Given the description of an element on the screen output the (x, y) to click on. 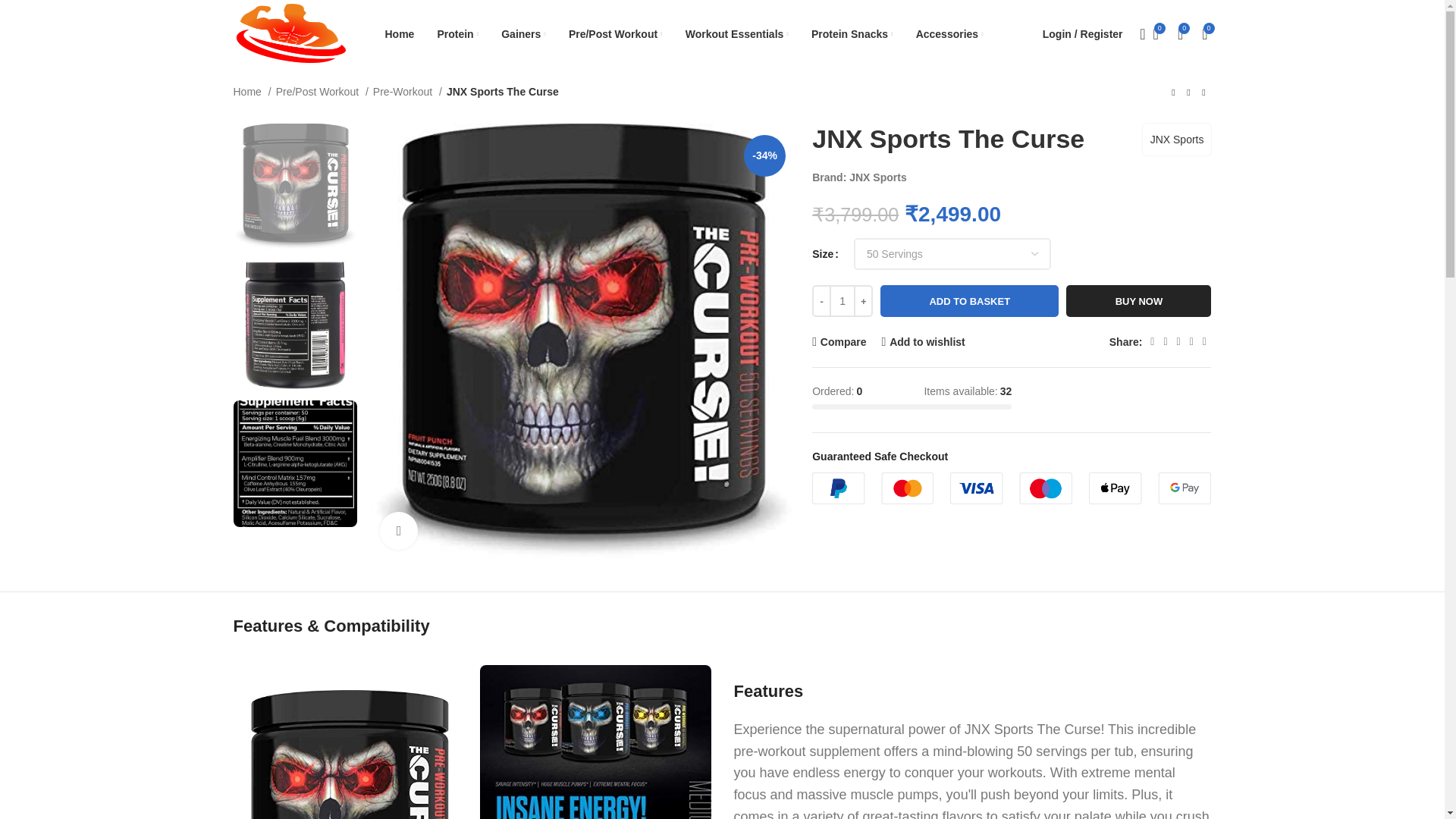
Protein (457, 33)
Home (399, 33)
Accessories (949, 33)
Workout Essentials (737, 33)
Gainers (523, 33)
My account (1083, 33)
Protein Snacks (851, 33)
